Given the description of an element on the screen output the (x, y) to click on. 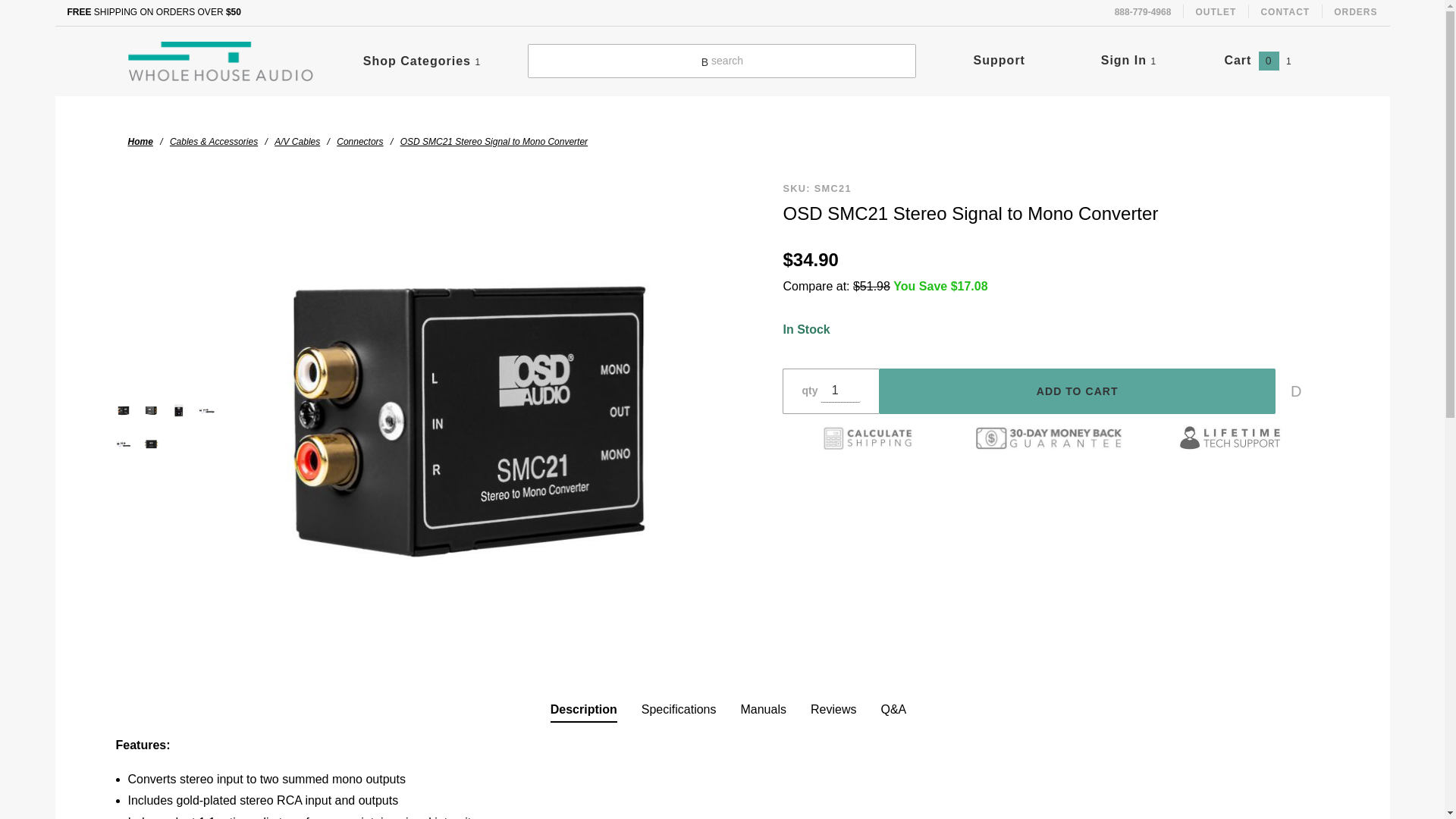
Guarantee (1049, 437)
Whole House Audio (221, 60)
Add To Cart (1077, 391)
ORDERS (1355, 12)
1 (840, 391)
OSD SMC21 Stereo Signal to Mono Converter (494, 141)
Sign In (1192, 105)
Home (140, 141)
Shop Categories (421, 61)
Cart 0 (1257, 60)
